Given the description of an element on the screen output the (x, y) to click on. 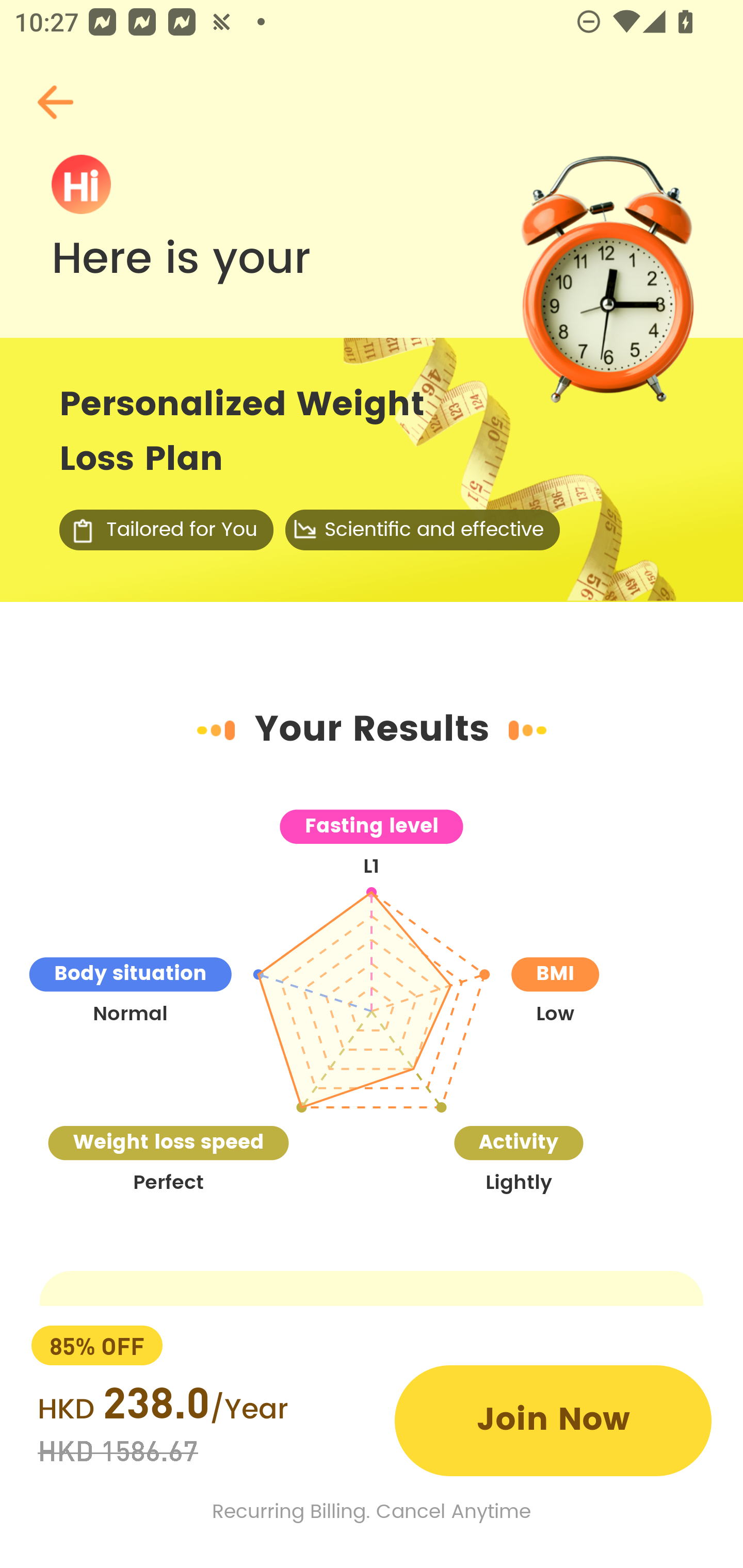
Join Now (552, 1420)
